Given the description of an element on the screen output the (x, y) to click on. 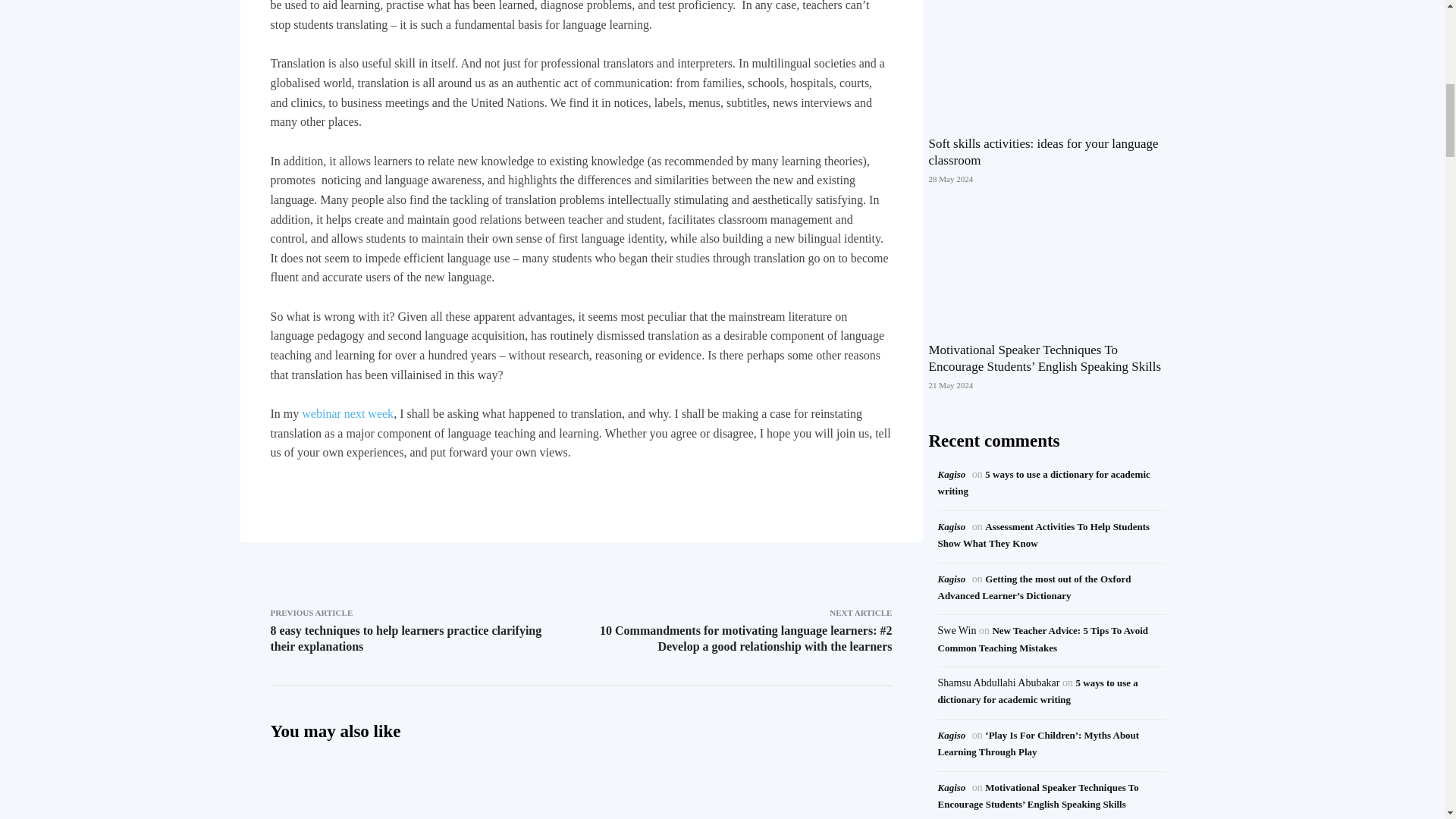
Bookmark and Share (580, 488)
webinar next week (347, 413)
